Given the description of an element on the screen output the (x, y) to click on. 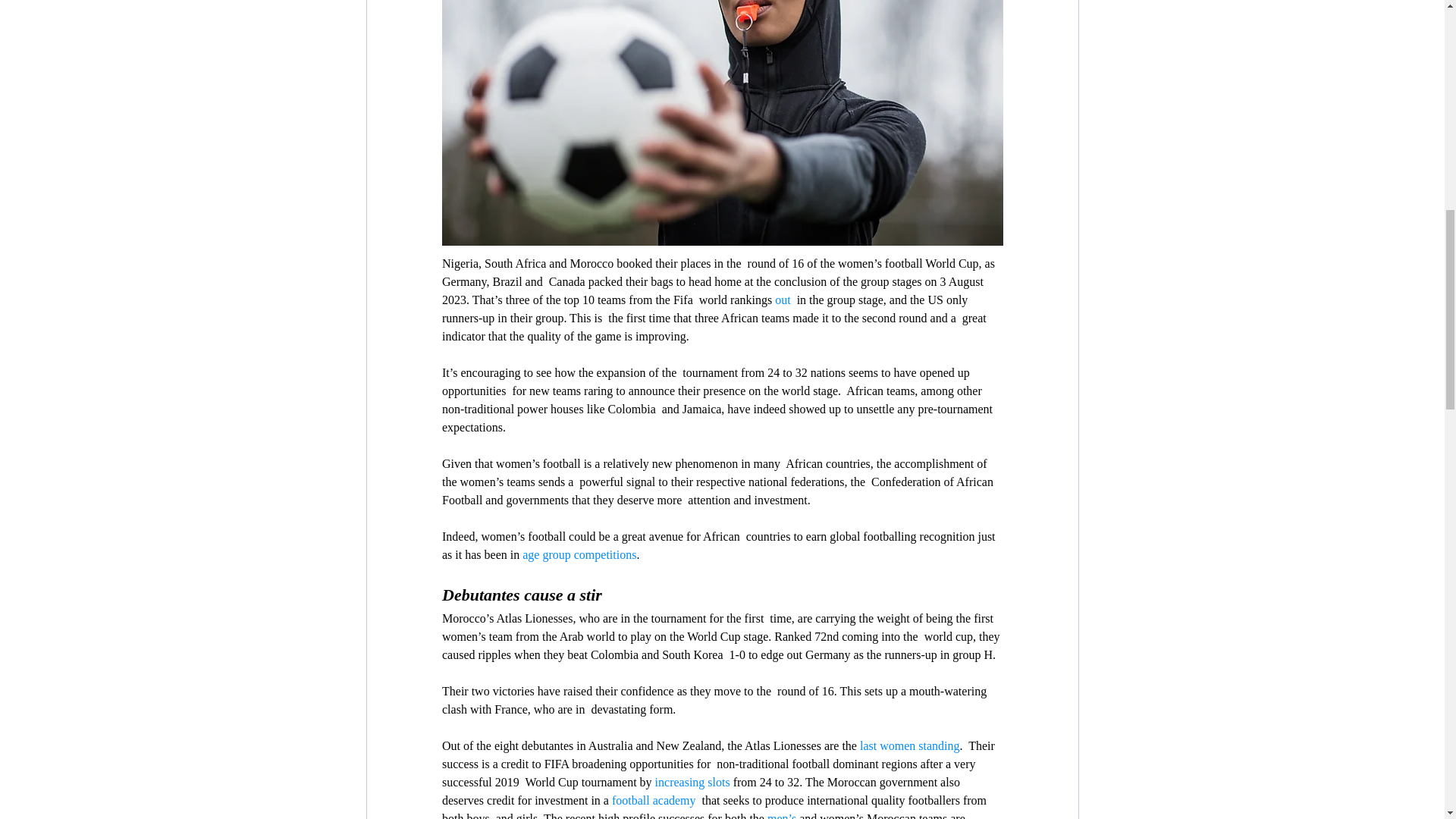
age group competitions (579, 554)
out (782, 299)
football academy (653, 799)
last women standing (909, 745)
increasing slots (691, 781)
